Given the description of an element on the screen output the (x, y) to click on. 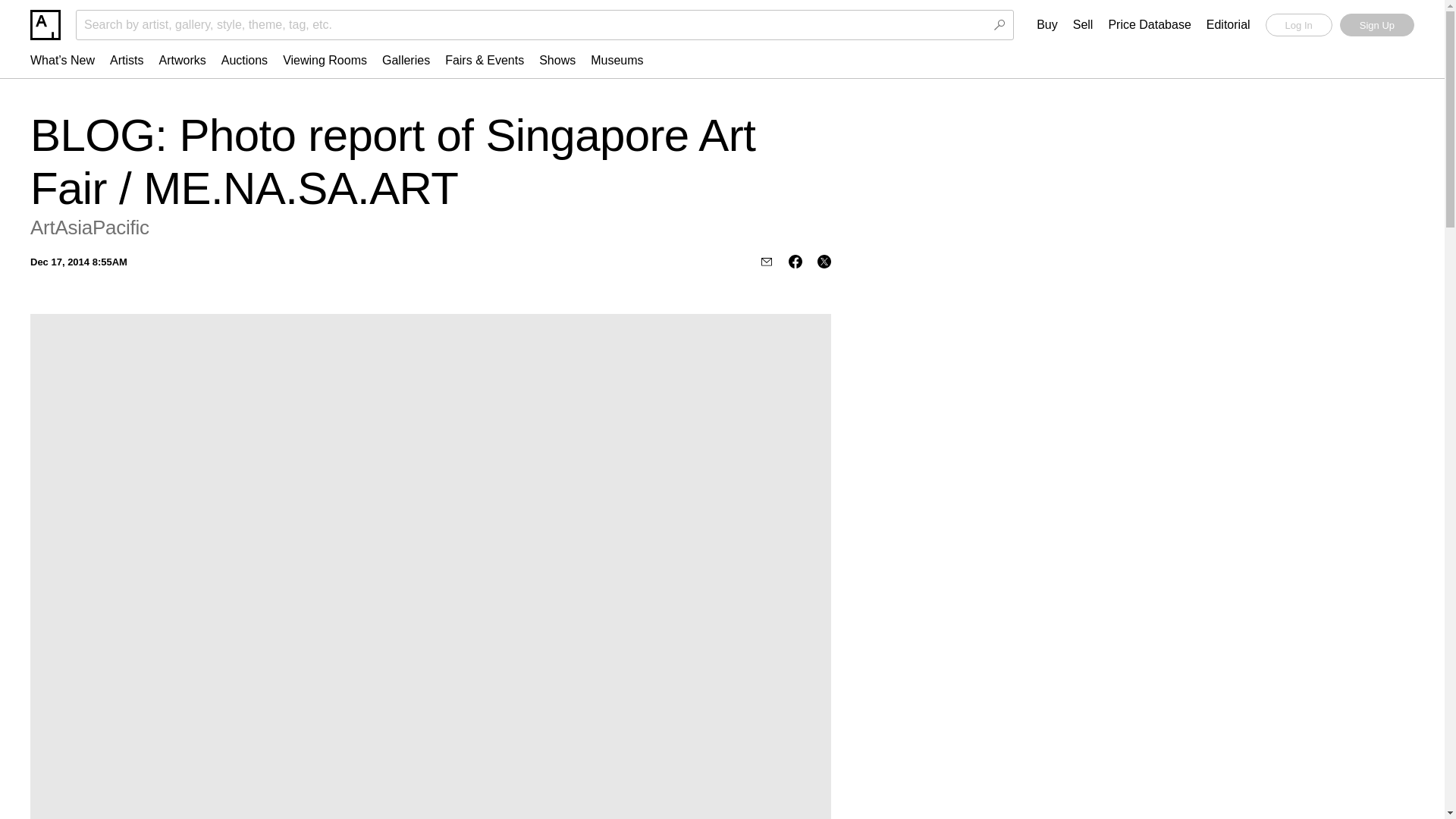
Buy (1047, 25)
Share via email (766, 261)
Artworks (182, 59)
Post to Facebook (795, 261)
Share on X (823, 261)
Sell (1082, 25)
Editorial (1227, 25)
Price Database (1149, 25)
Galleries (406, 59)
Auctions (244, 59)
